Given the description of an element on the screen output the (x, y) to click on. 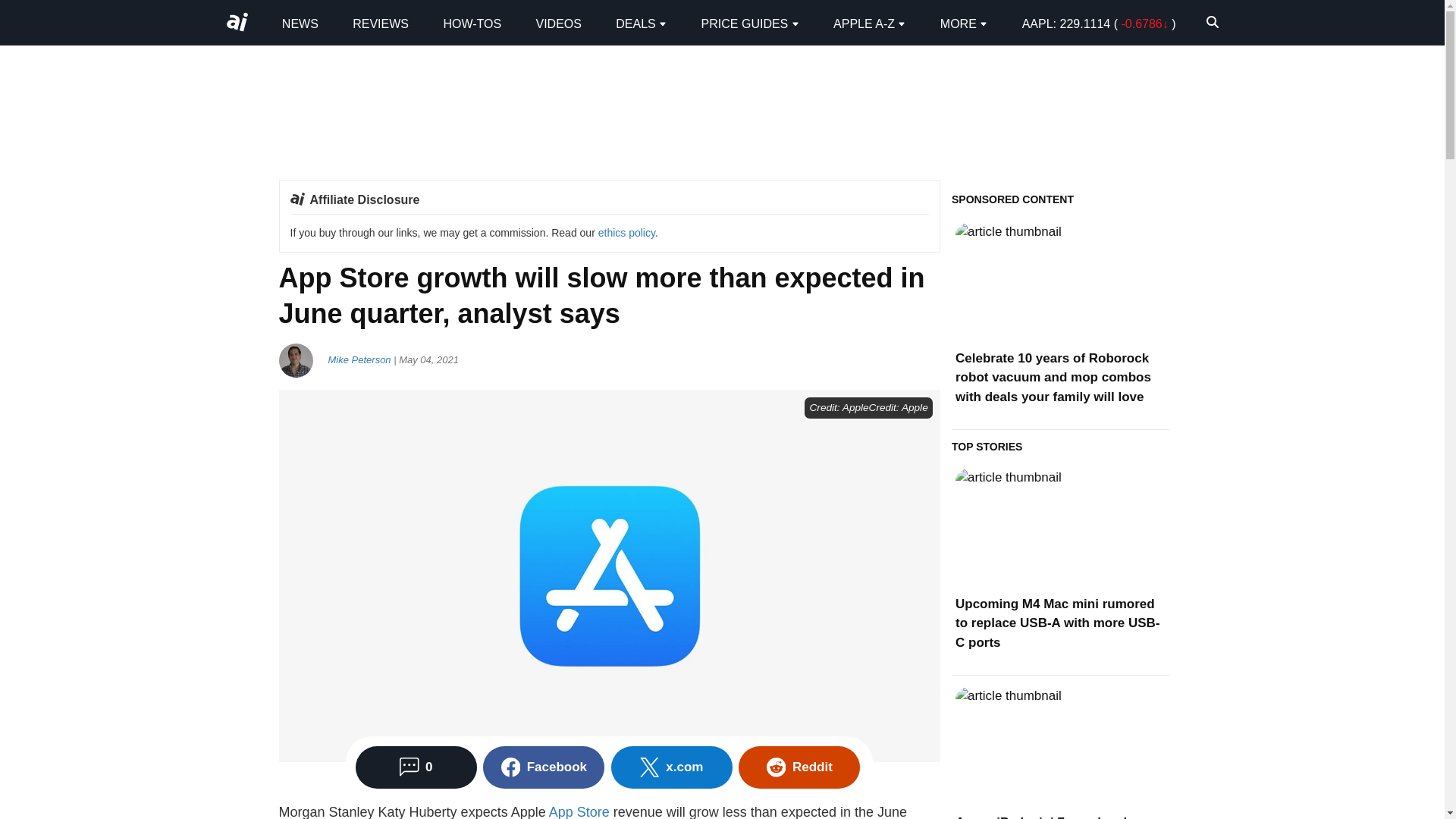
News (300, 23)
Reviews (380, 23)
How-Tos (471, 23)
VIDEOS (557, 23)
Videos (557, 23)
REVIEWS (380, 23)
NEWS (300, 23)
HOW-TOS (471, 23)
